Given the description of an element on the screen output the (x, y) to click on. 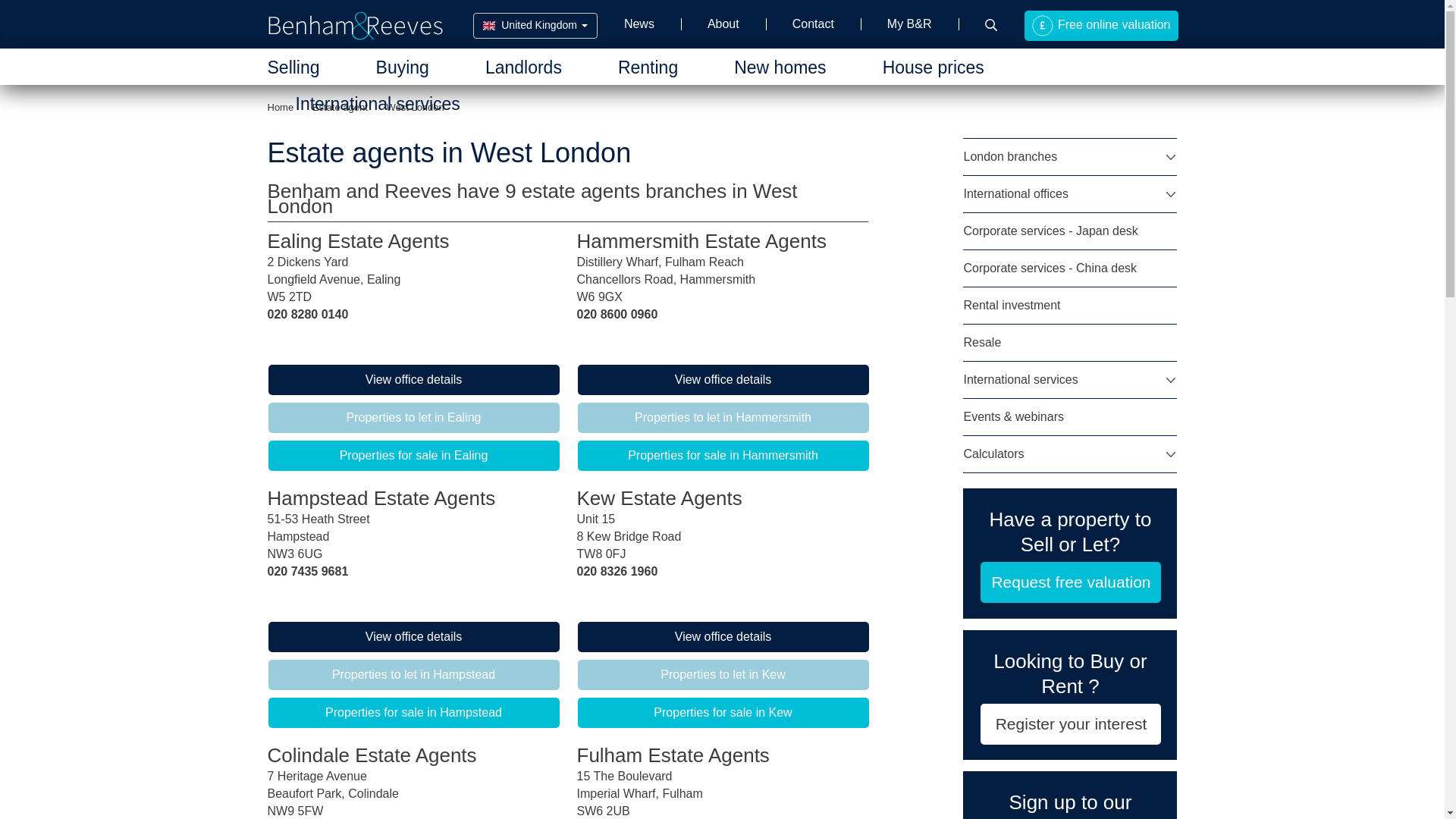
Free online valuation (1100, 25)
Contact (813, 23)
News (638, 23)
Free online valuation (1100, 25)
About (723, 23)
United Kingdom (534, 25)
